Given the description of an element on the screen output the (x, y) to click on. 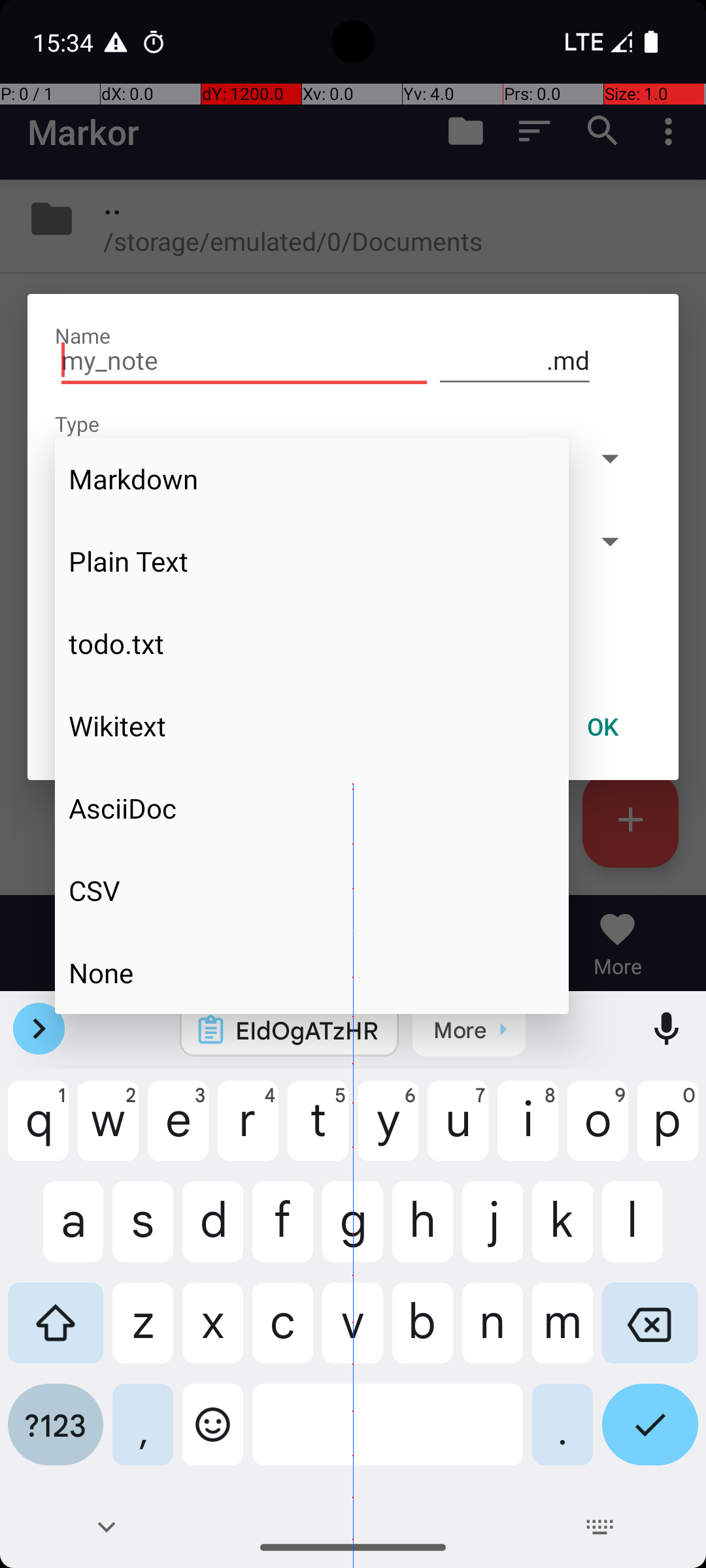
Markdown Element type: android.widget.TextView (311, 478)
Plain Text Element type: android.widget.TextView (311, 561)
todo.txt Element type: android.widget.TextView (311, 643)
Wikitext Element type: android.widget.TextView (311, 725)
AsciiDoc Element type: android.widget.TextView (311, 808)
CSV Element type: android.widget.TextView (311, 890)
None Element type: android.widget.TextView (311, 972)
